Given the description of an element on the screen output the (x, y) to click on. 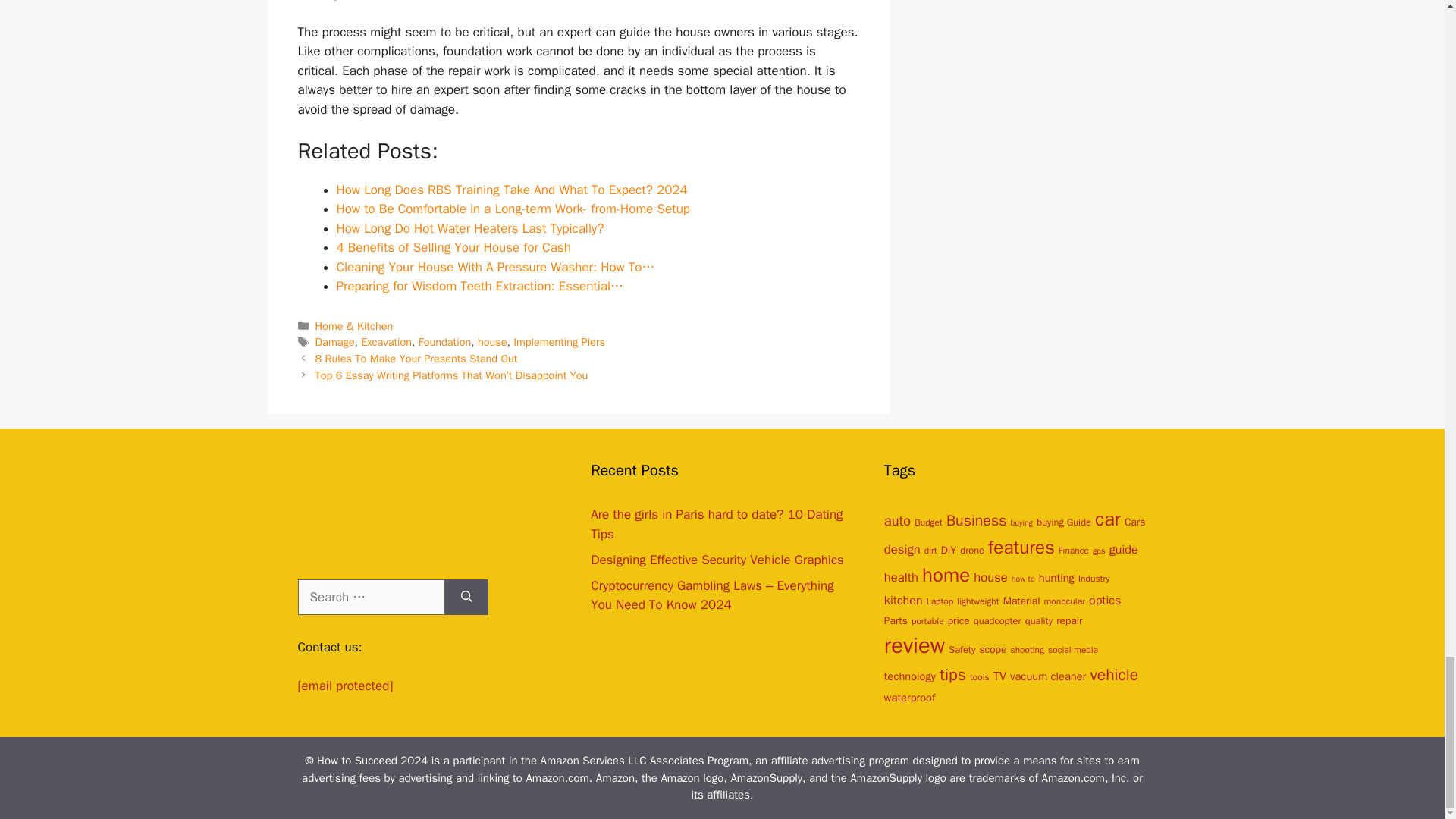
Damage (335, 341)
How Long Do Hot Water Heaters Last Typically? (470, 228)
Excavation (386, 341)
house (491, 341)
Foundation (444, 341)
Implementing Piers (559, 341)
8 Rules To Make Your Presents Stand Out (416, 358)
How to Be Comfortable in a Long-term Work- from-Home Setup (513, 208)
4 Benefits of Selling Your House for Cash (453, 247)
How Long Does RBS Training Take And What To Expect? 2024 (511, 189)
Search for: (370, 597)
